Given the description of an element on the screen output the (x, y) to click on. 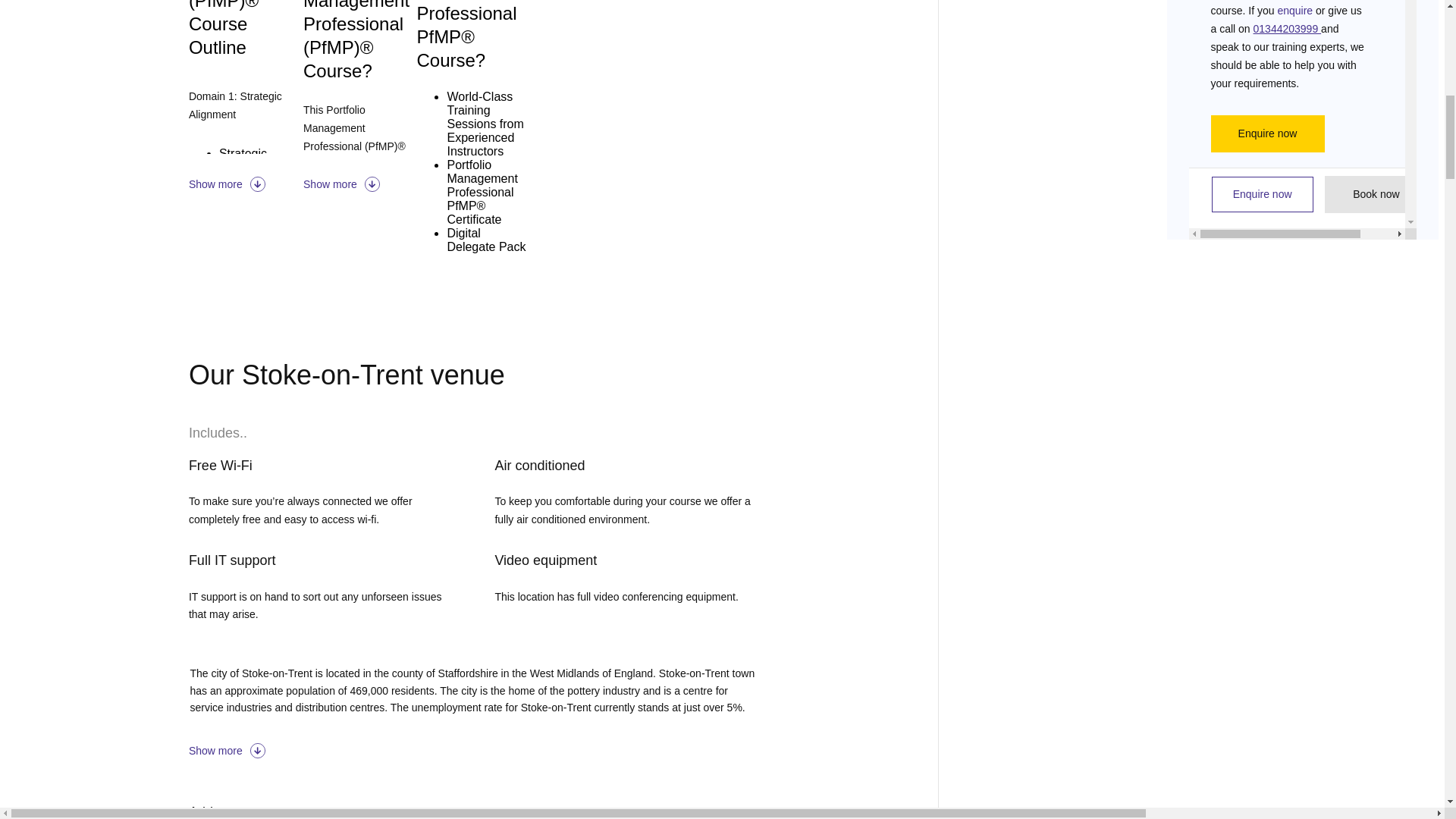
Show more (472, 750)
Show more (359, 183)
Show more (245, 183)
